Given the description of an element on the screen output the (x, y) to click on. 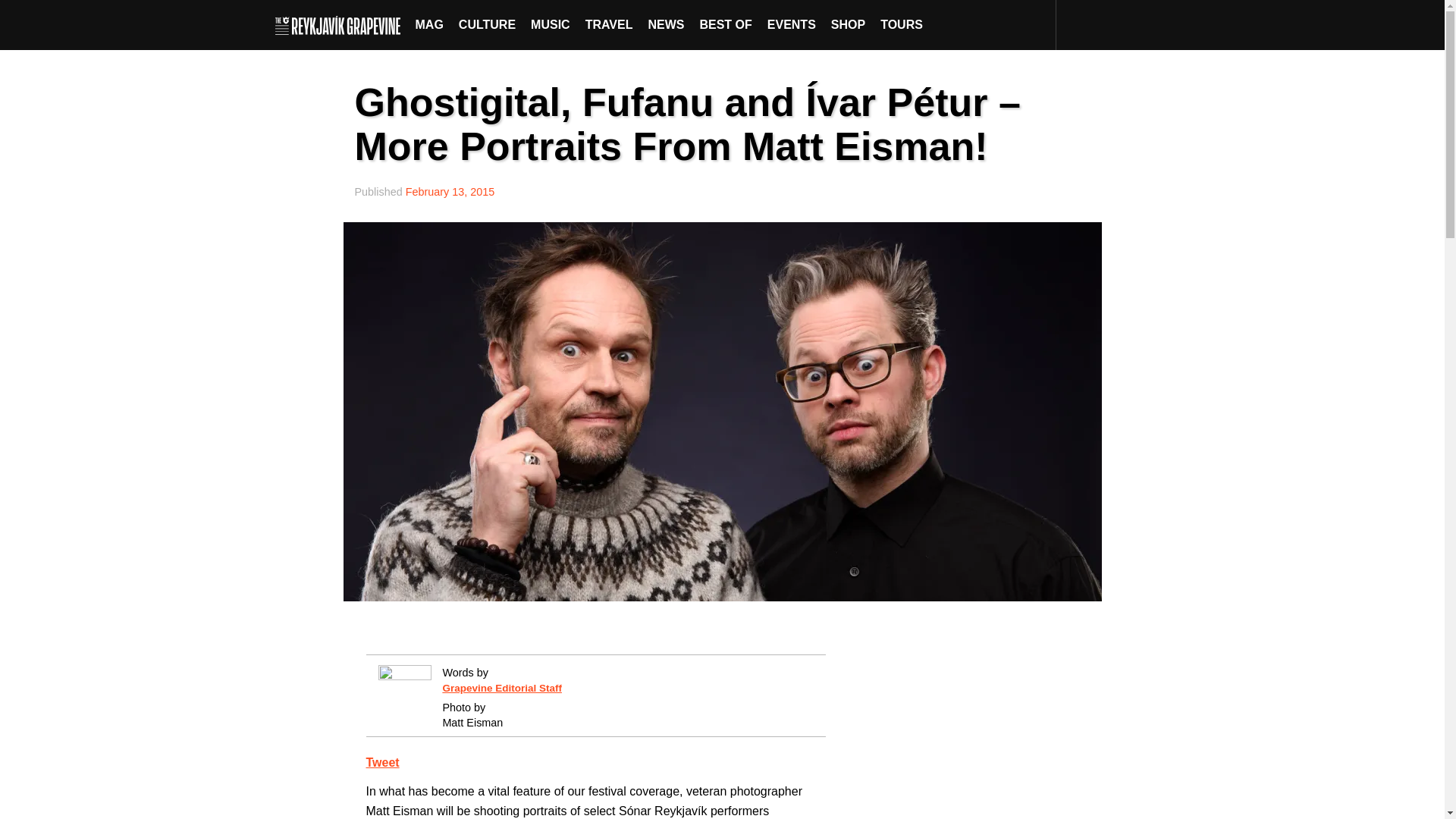
CULTURE (486, 24)
NEWS (665, 24)
MUSIC (550, 24)
Posts by Grapevine Editorial Staff (502, 687)
BEST OF (724, 24)
EVENTS (792, 24)
TRAVEL (609, 24)
Grapevine Editorial Staff (502, 687)
Tweet (381, 762)
SHOP (848, 24)
